Given the description of an element on the screen output the (x, y) to click on. 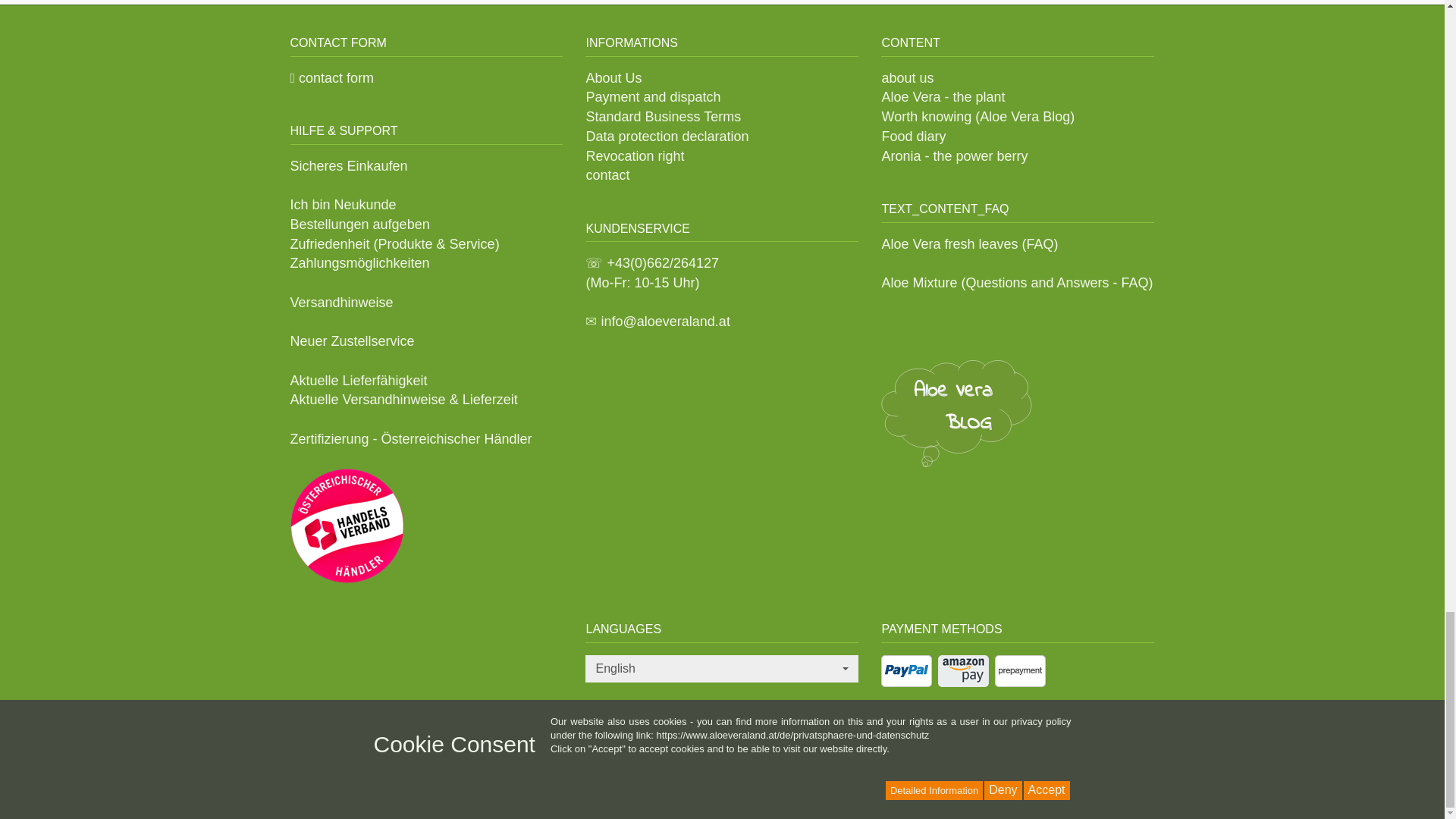
contact form (331, 77)
Neuer Zustellservice (351, 340)
Sicheres Einkaufen (348, 165)
Ich bin Neukunde (342, 204)
Languages: English (722, 669)
Versandhinweise (341, 302)
Bestellungen aufgeben (359, 224)
Alles rund um die Aloe Vera Pflanze (956, 412)
